Given the description of an element on the screen output the (x, y) to click on. 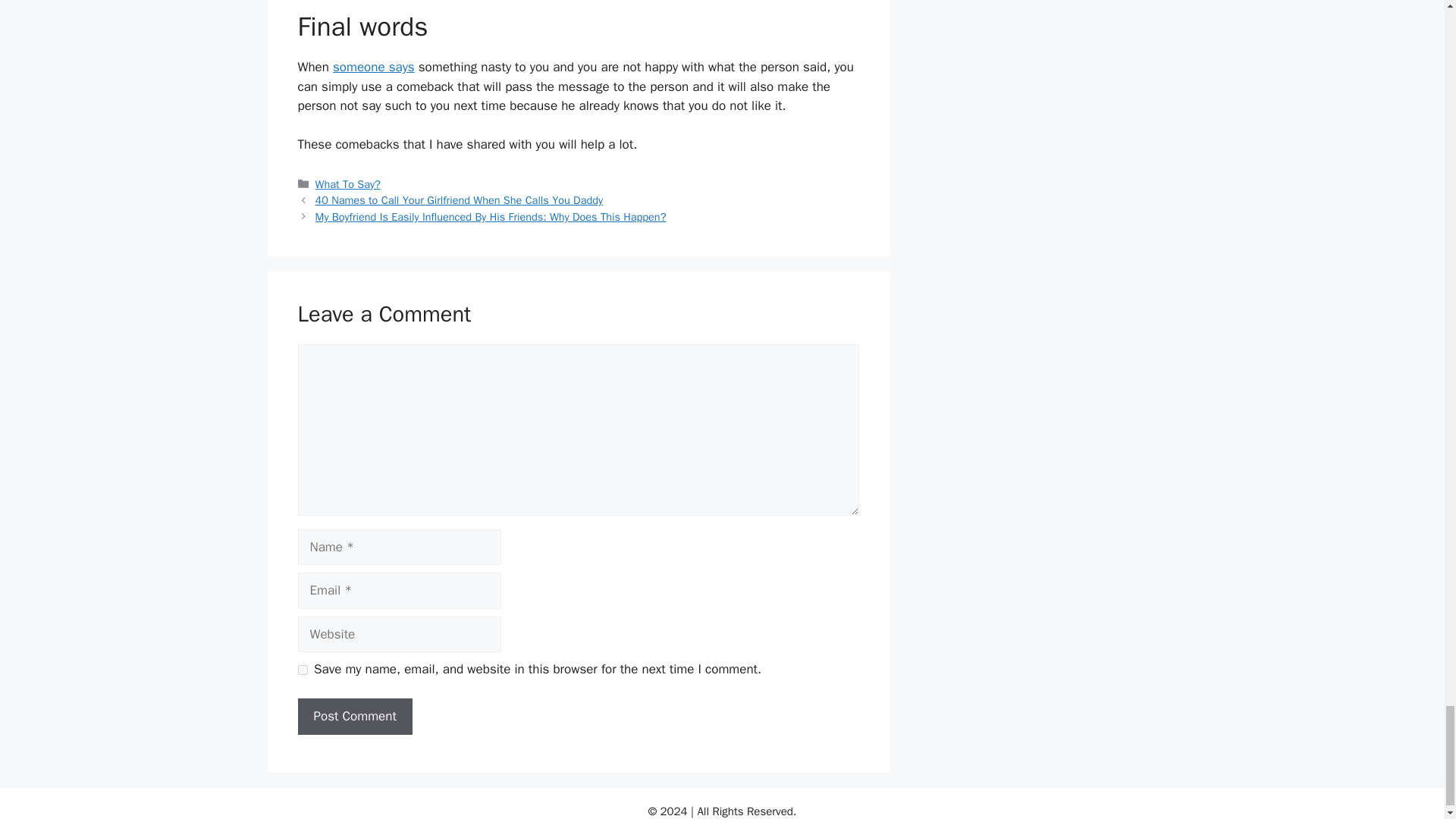
yes (302, 669)
Post Comment (354, 716)
